Given the description of an element on the screen output the (x, y) to click on. 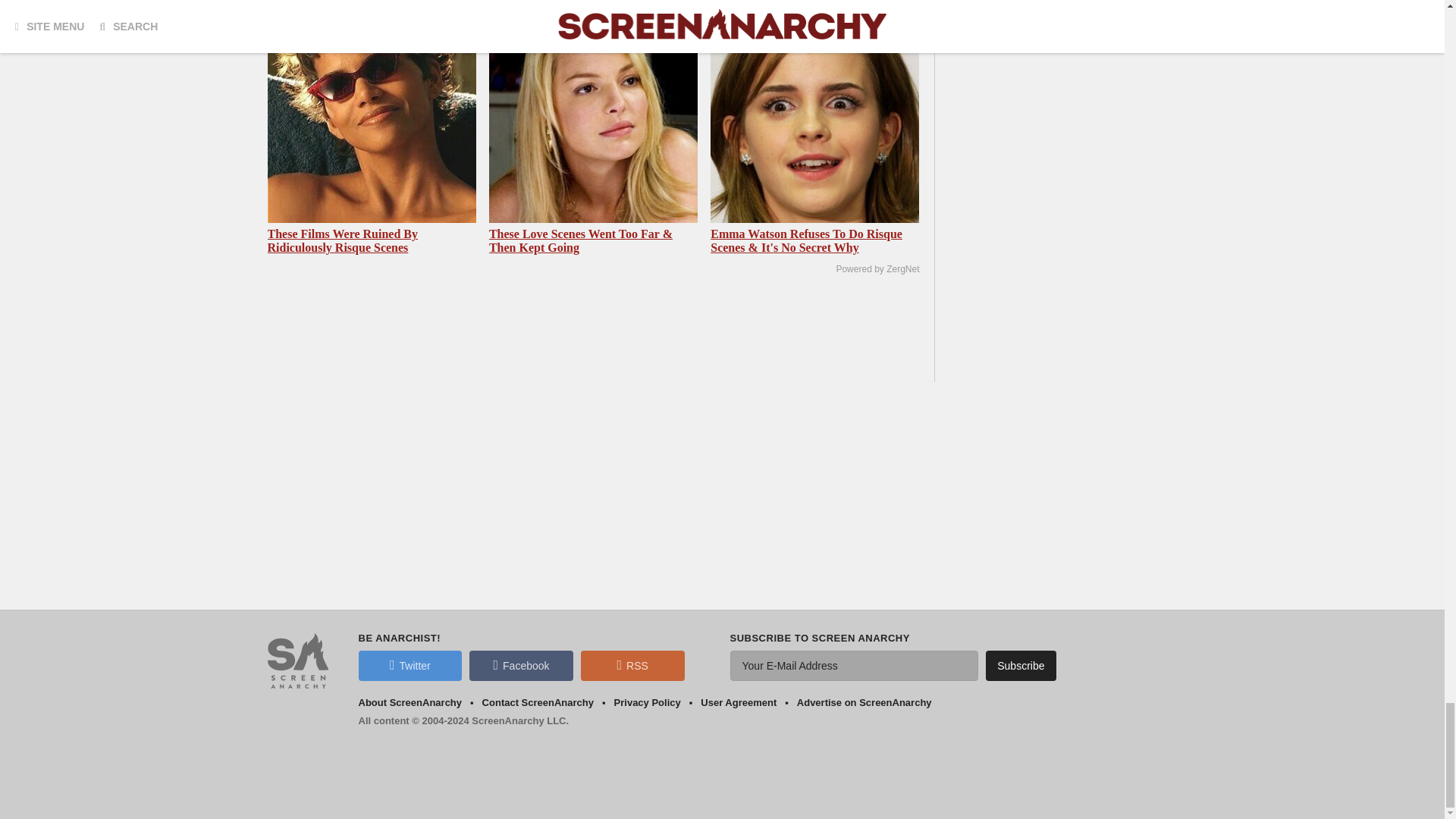
Subscribe (1020, 665)
